Given the description of an element on the screen output the (x, y) to click on. 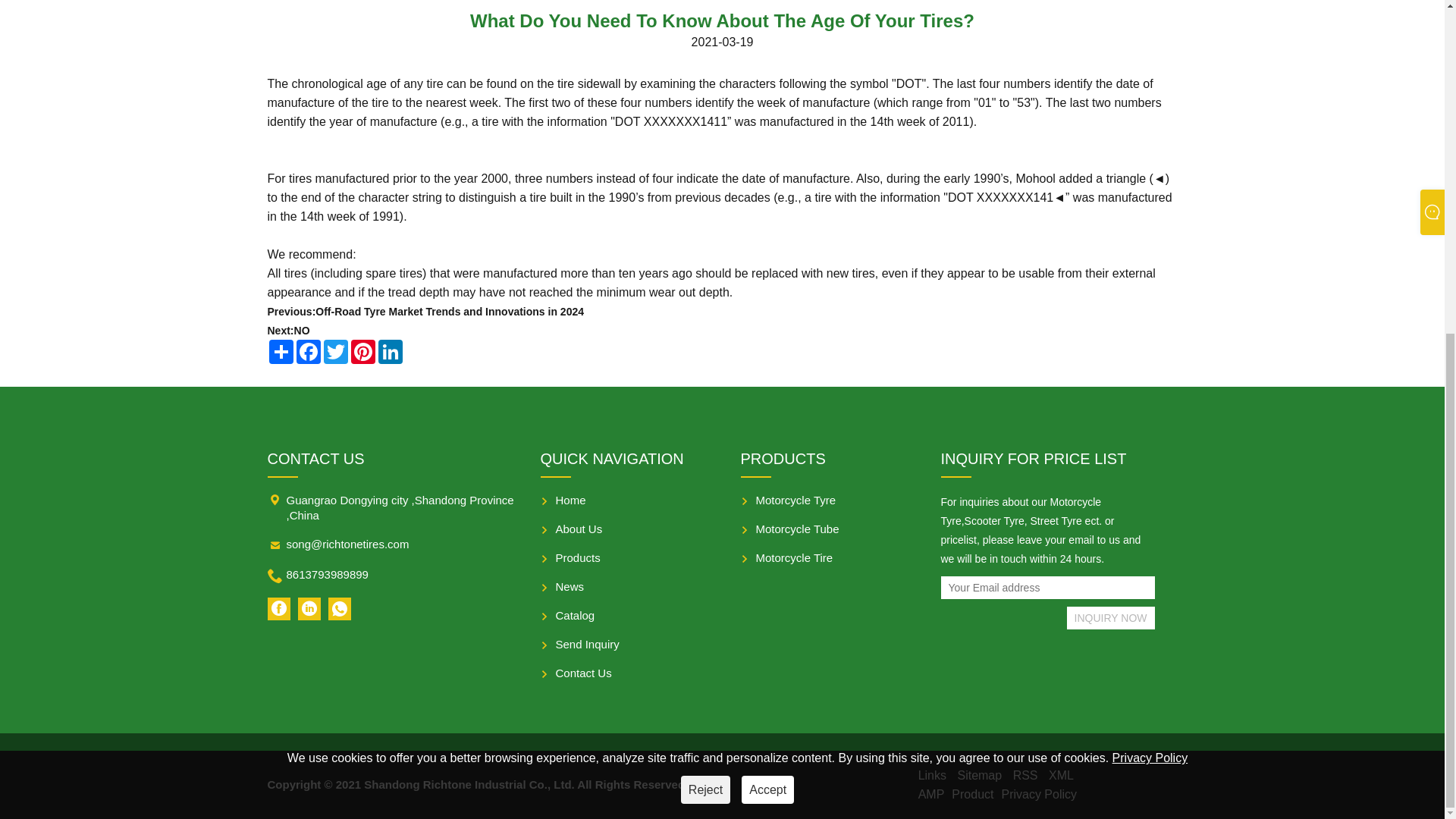
INQUIRY NOW (1110, 617)
